Given the description of an element on the screen output the (x, y) to click on. 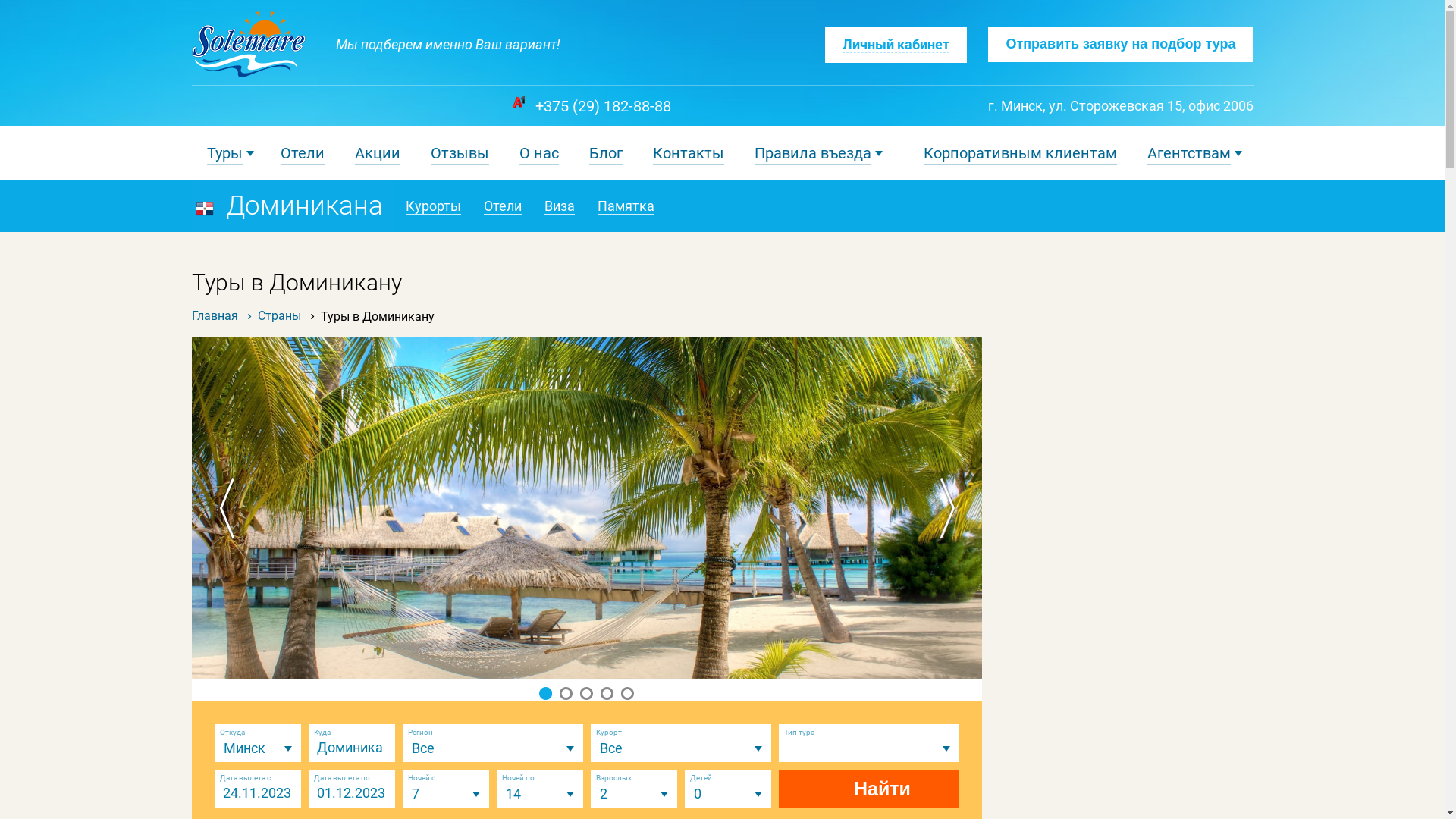
+375 (29) 182-88-88 Element type: text (603, 106)
3 Element type: text (586, 693)
5 Element type: text (627, 693)
2 Element type: text (565, 693)
2 Element type: text (632, 793)
7 Element type: text (444, 793)
0 Element type: text (727, 793)
4 Element type: text (606, 693)
A1.png Element type: hover (517, 101)
Next Element type: text (943, 508)
1 Element type: text (545, 693)
14 Element type: text (538, 793)
Previous Element type: text (228, 508)
